Given the description of an element on the screen output the (x, y) to click on. 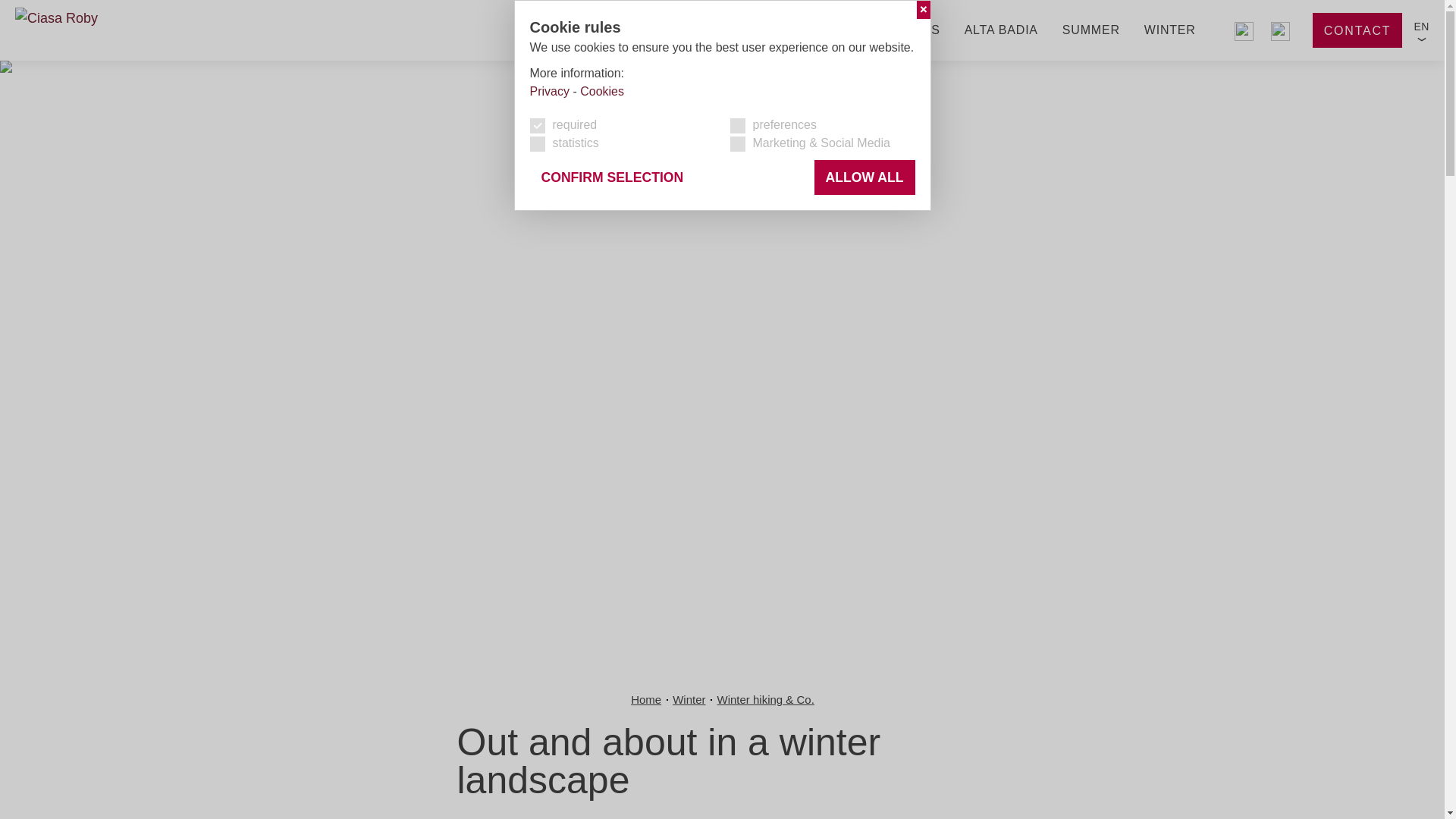
Home (645, 698)
ALTA BADIA (1000, 30)
EN (1421, 27)
SUMMER (1090, 30)
CONTACT (1358, 29)
WELCOME (832, 30)
Winter (688, 698)
